Given the description of an element on the screen output the (x, y) to click on. 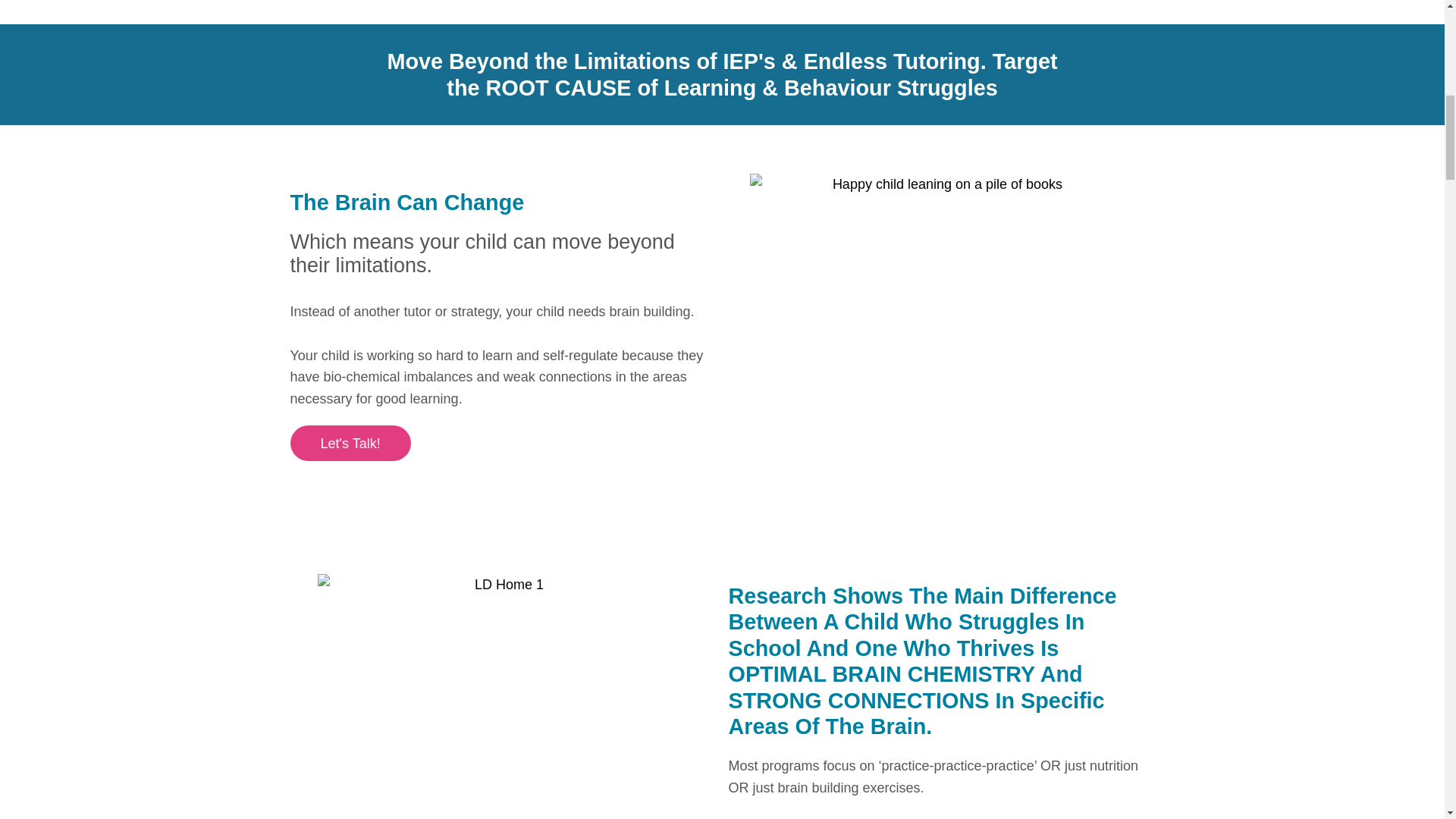
Let's Talk! (349, 443)
